Given the description of an element on the screen output the (x, y) to click on. 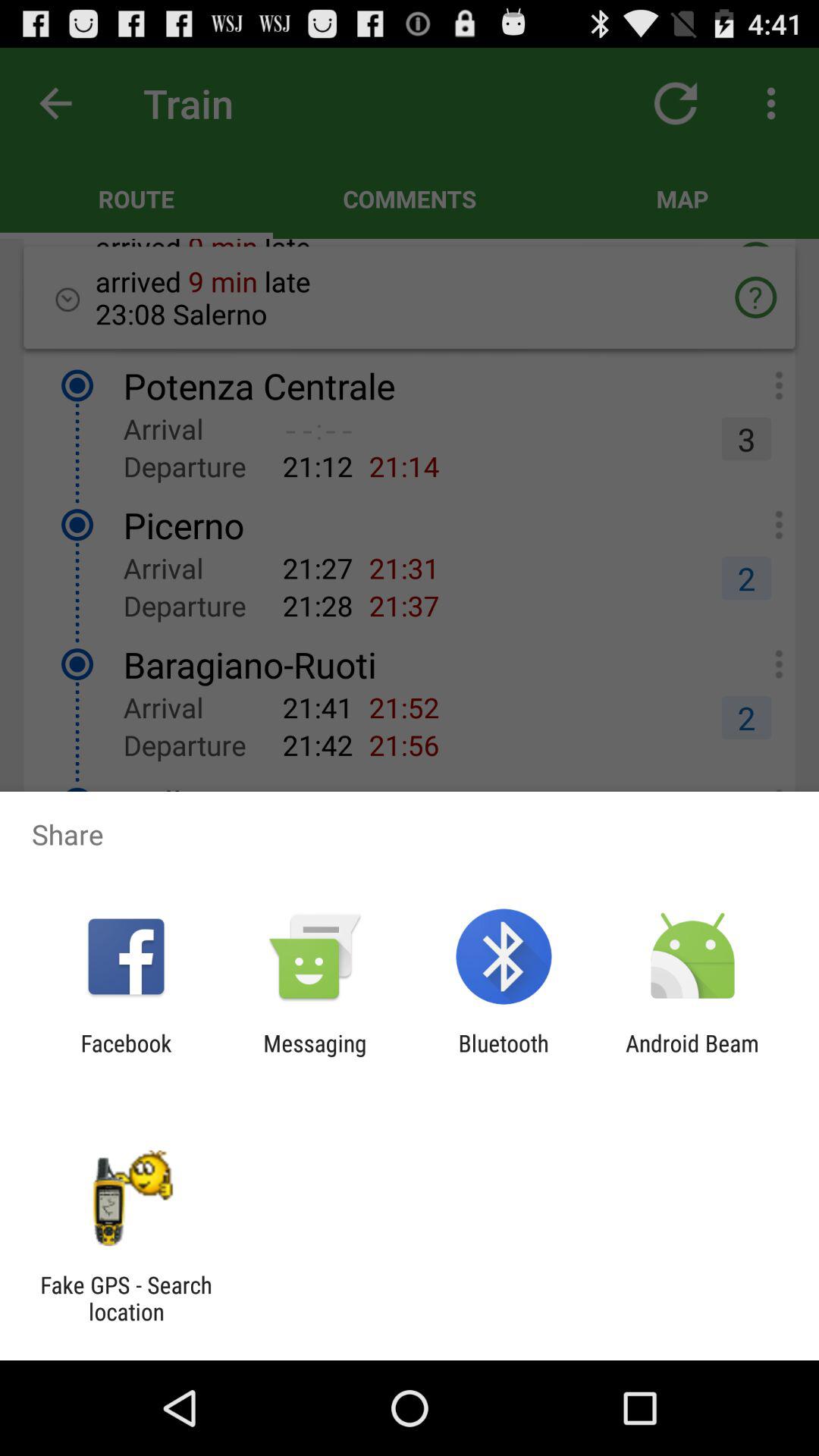
open the bluetooth icon (503, 1056)
